Given the description of an element on the screen output the (x, y) to click on. 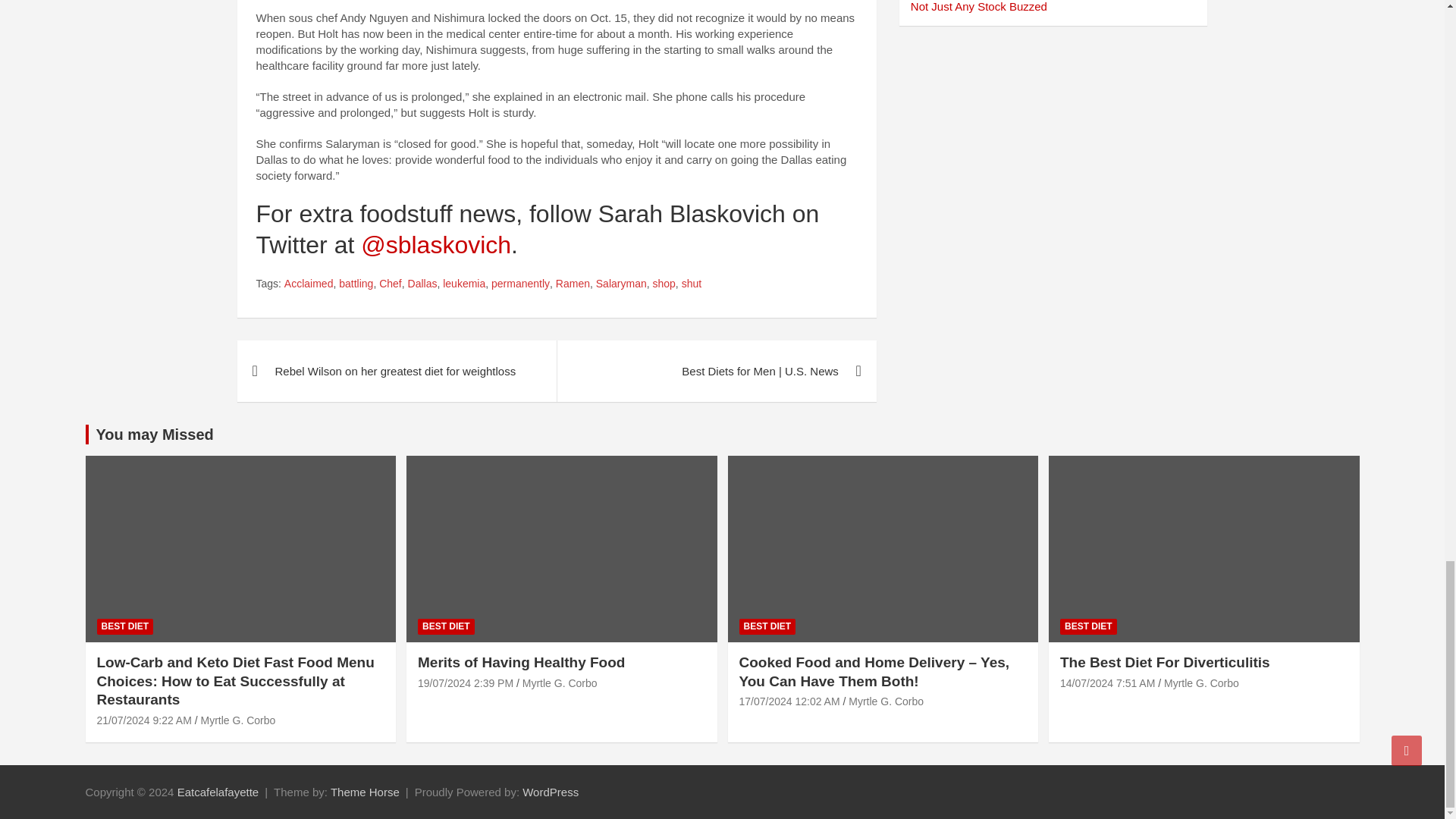
Eatcafelafayette (218, 791)
shop (663, 283)
battling (355, 283)
Theme Horse (364, 791)
leukemia (463, 283)
Ramen (572, 283)
Rebel Wilson on her greatest diet for weightloss (395, 371)
Merits of Having Healthy Food (465, 683)
Salaryman (620, 283)
